Given the description of an element on the screen output the (x, y) to click on. 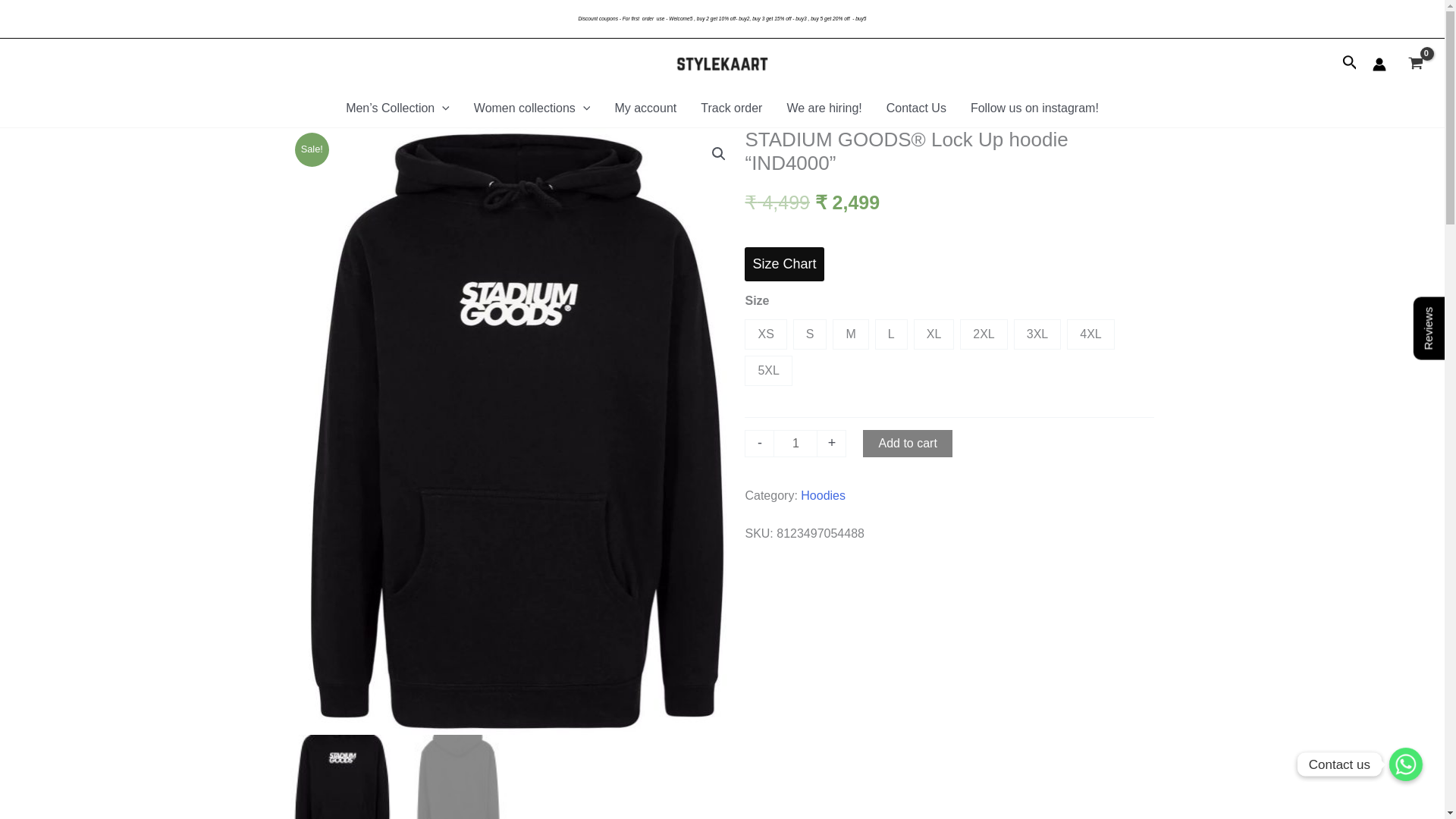
1 (794, 442)
Women collections (531, 108)
